Given the description of an element on the screen output the (x, y) to click on. 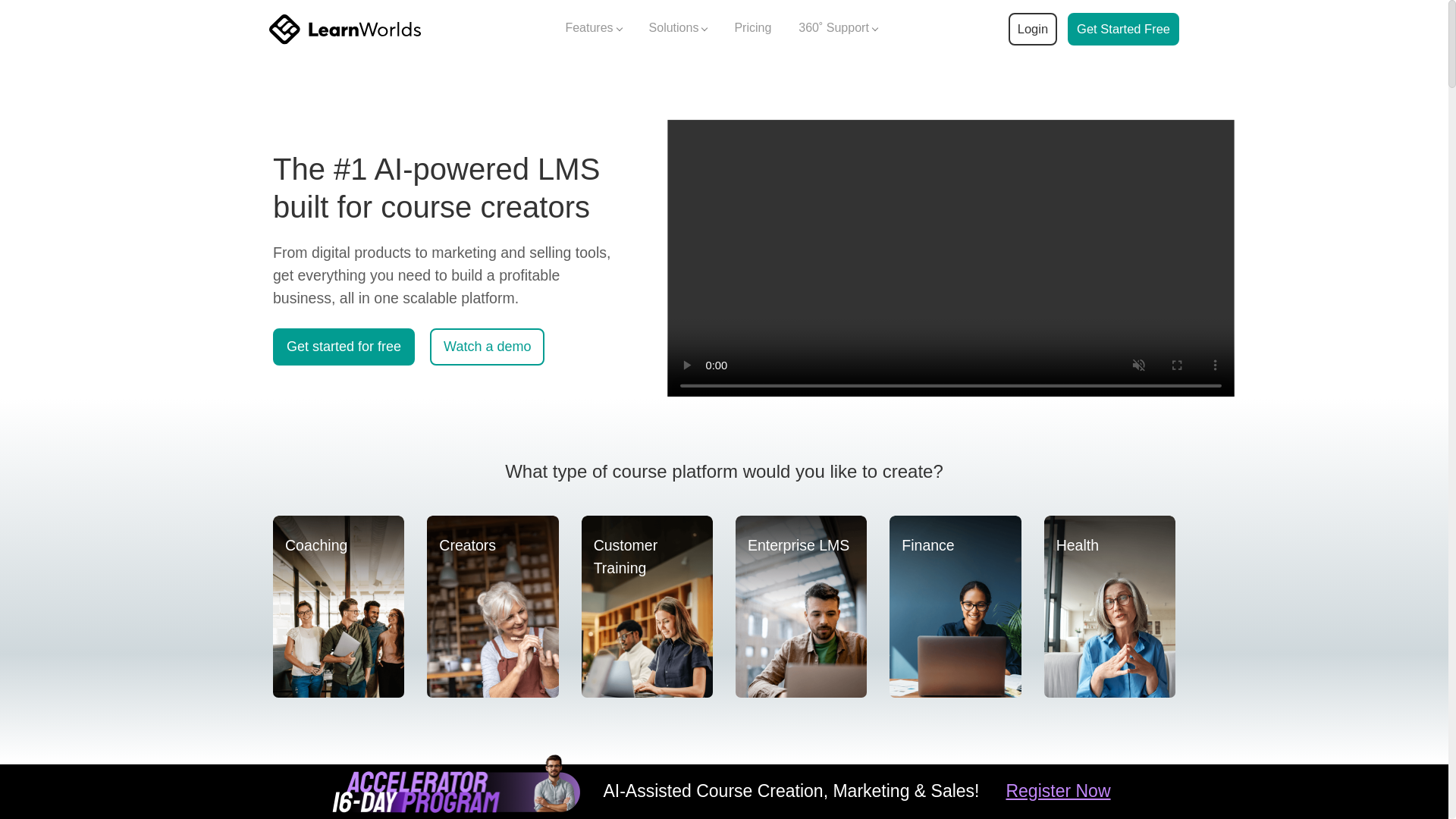
Start your demo with LearnWorlds (1123, 29)
Login to your LearnWorlds account (1032, 29)
Features (592, 29)
LearnWorlds home (344, 28)
